Given the description of an element on the screen output the (x, y) to click on. 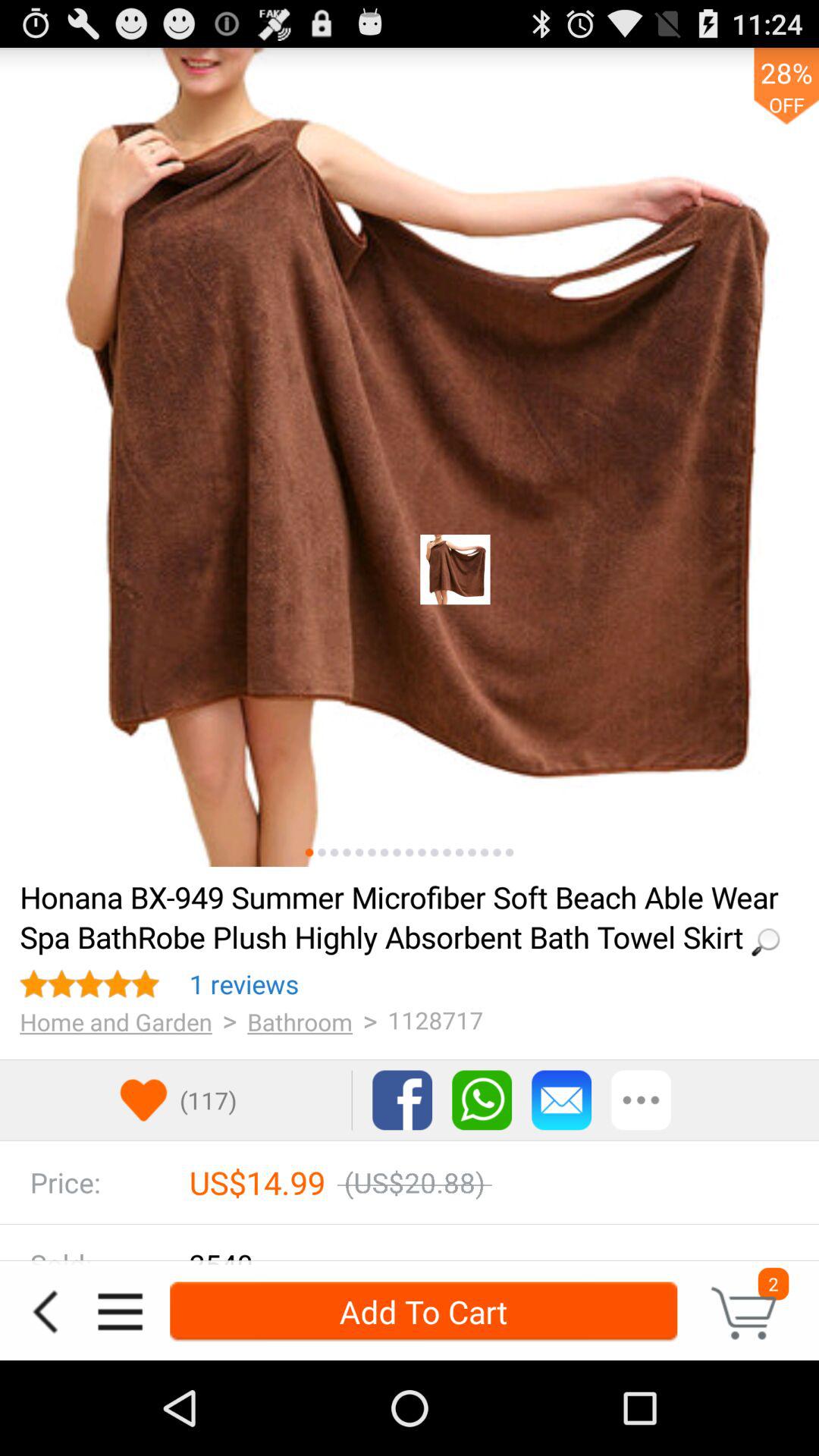
see picture (472, 852)
